Given the description of an element on the screen output the (x, y) to click on. 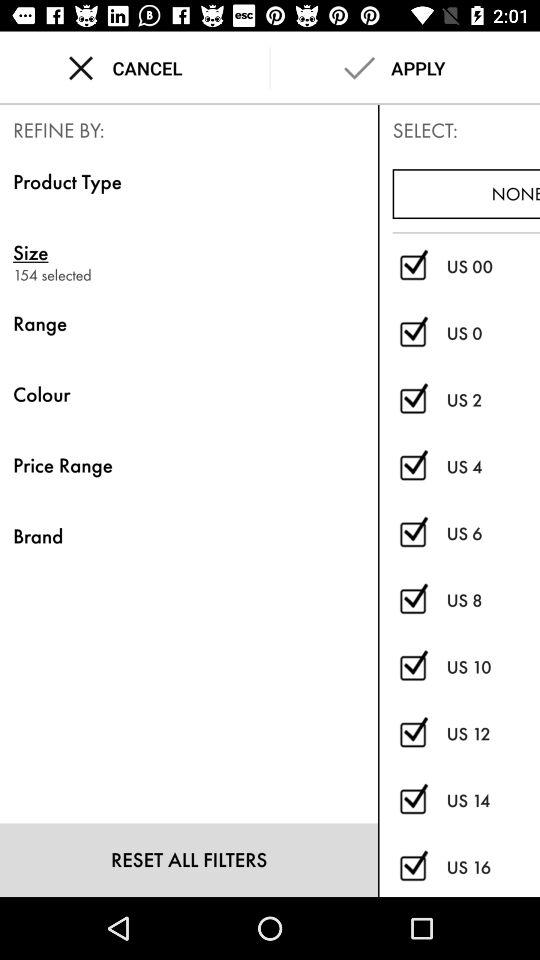
us 8 (412, 600)
